Given the description of an element on the screen output the (x, y) to click on. 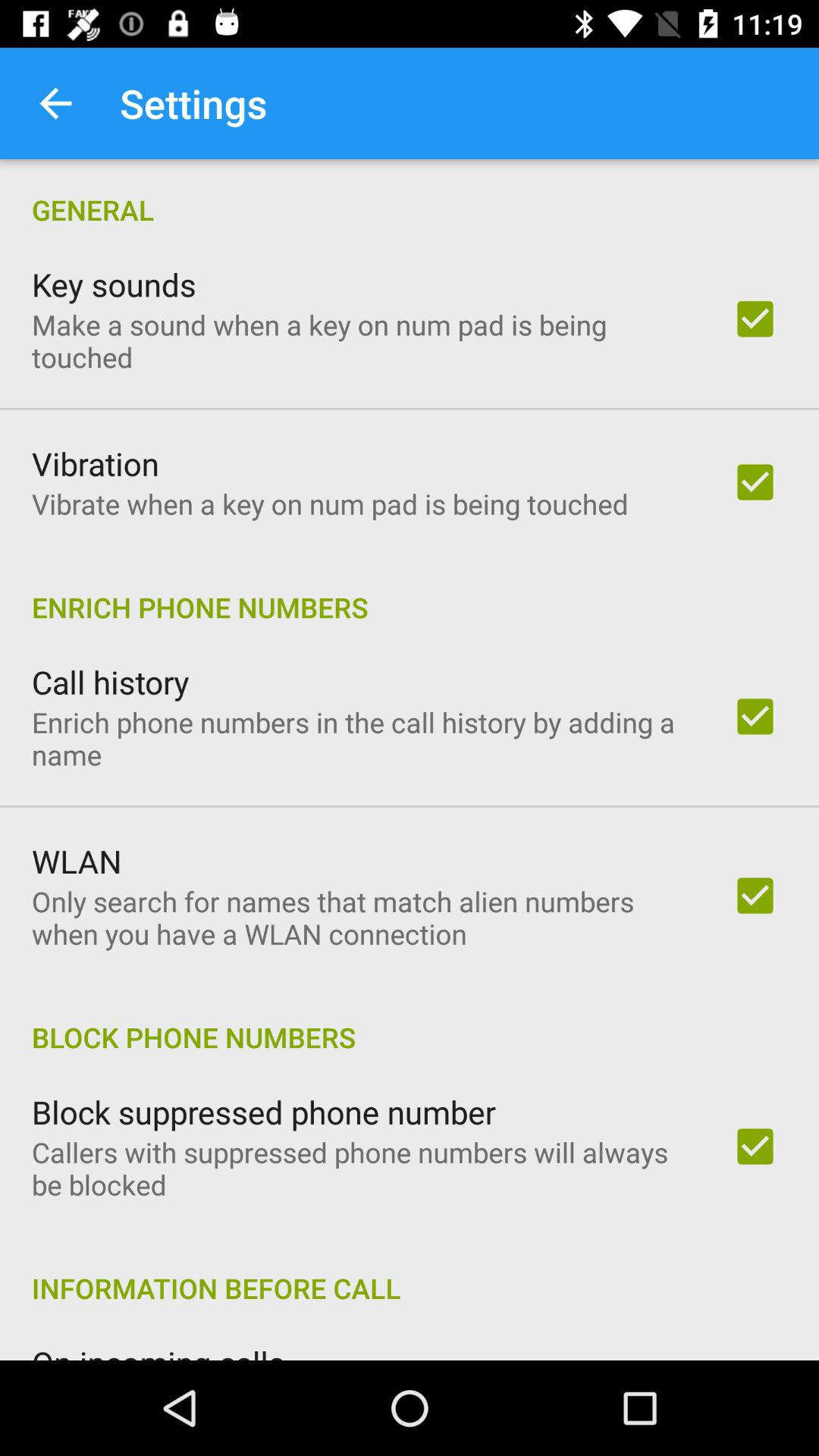
swipe until the vibration (95, 463)
